Given the description of an element on the screen output the (x, y) to click on. 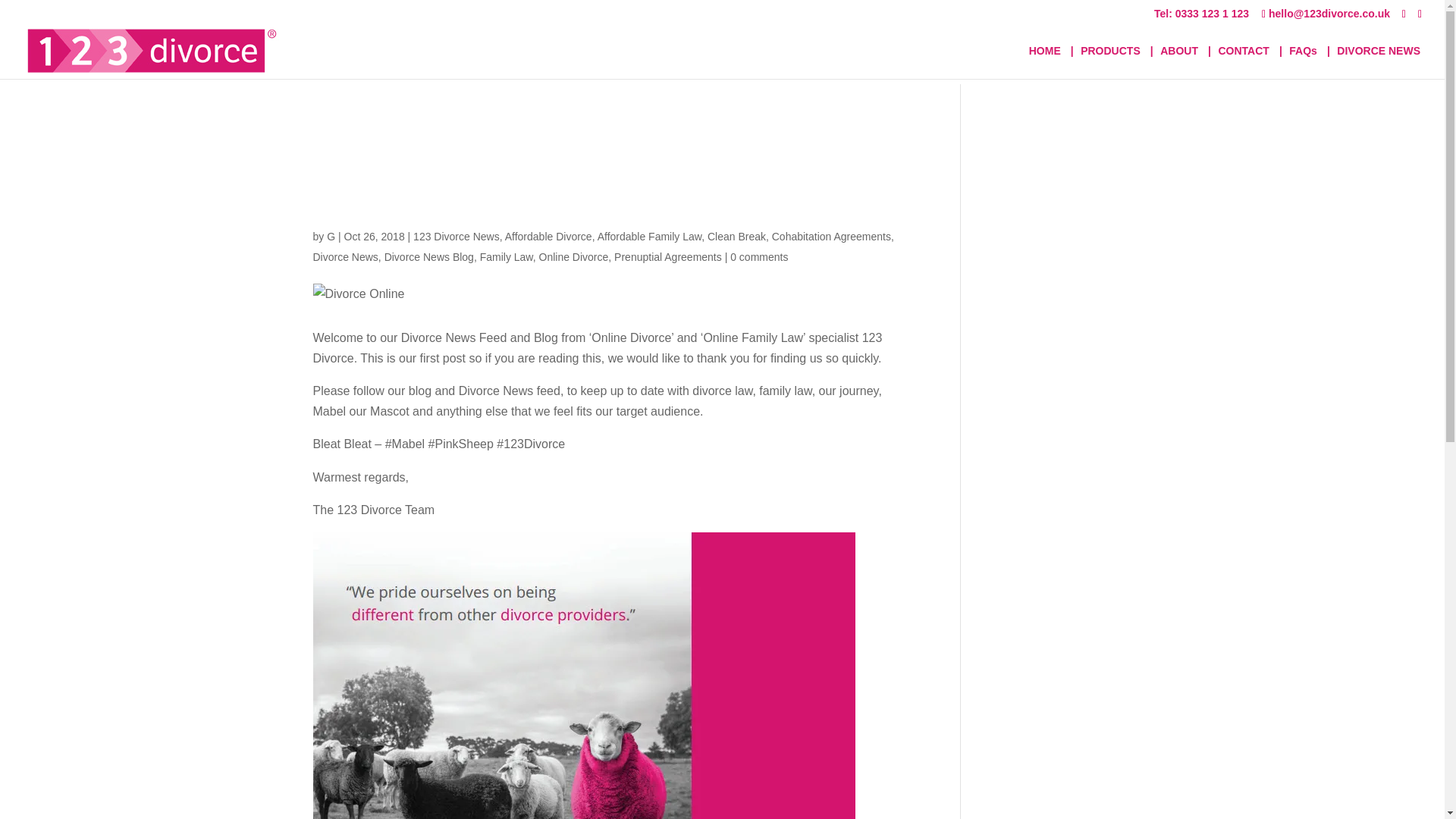
Online Divorce (573, 256)
HOME (1045, 61)
CONTACT (1242, 61)
Affordable Divorce (548, 236)
PRODUCTS (1110, 61)
Cohabitation Agreements (831, 236)
Family Law (506, 256)
Prenuptial Agreements (668, 256)
0 comments (758, 256)
Divorce News (345, 256)
